Given the description of an element on the screen output the (x, y) to click on. 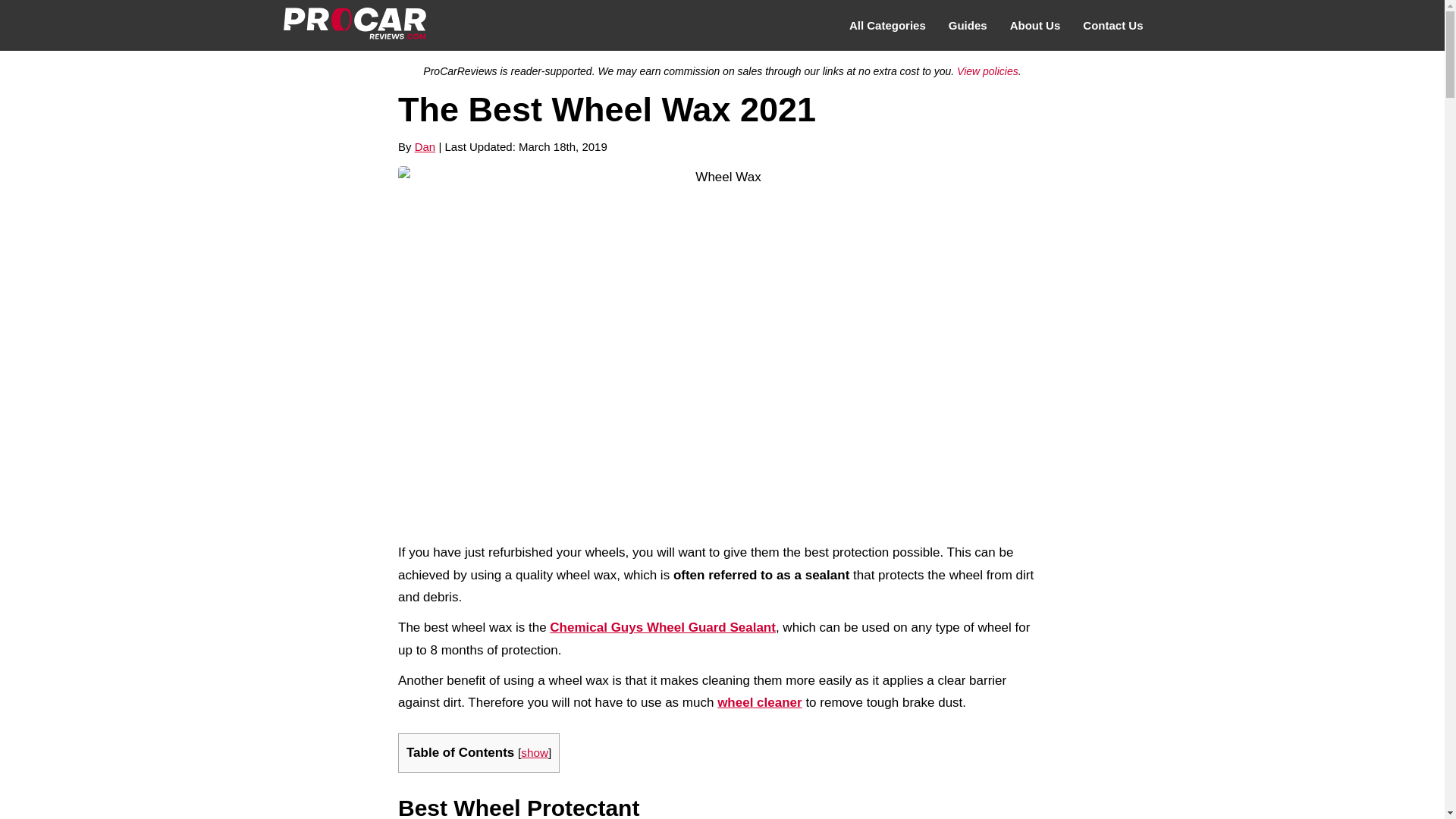
Chemical Guys Wheel Guard Sealant (663, 626)
wheel cleaner (759, 702)
about (1034, 25)
ProCarReviews Disclosure (986, 70)
About Us (1034, 25)
contact (1112, 25)
All Categories (887, 25)
guides (967, 25)
show (534, 752)
Contact Us (1112, 25)
Dan (424, 146)
View policies (986, 70)
Guides (967, 25)
categories (887, 25)
Posts by Dan (424, 146)
